Given the description of an element on the screen output the (x, y) to click on. 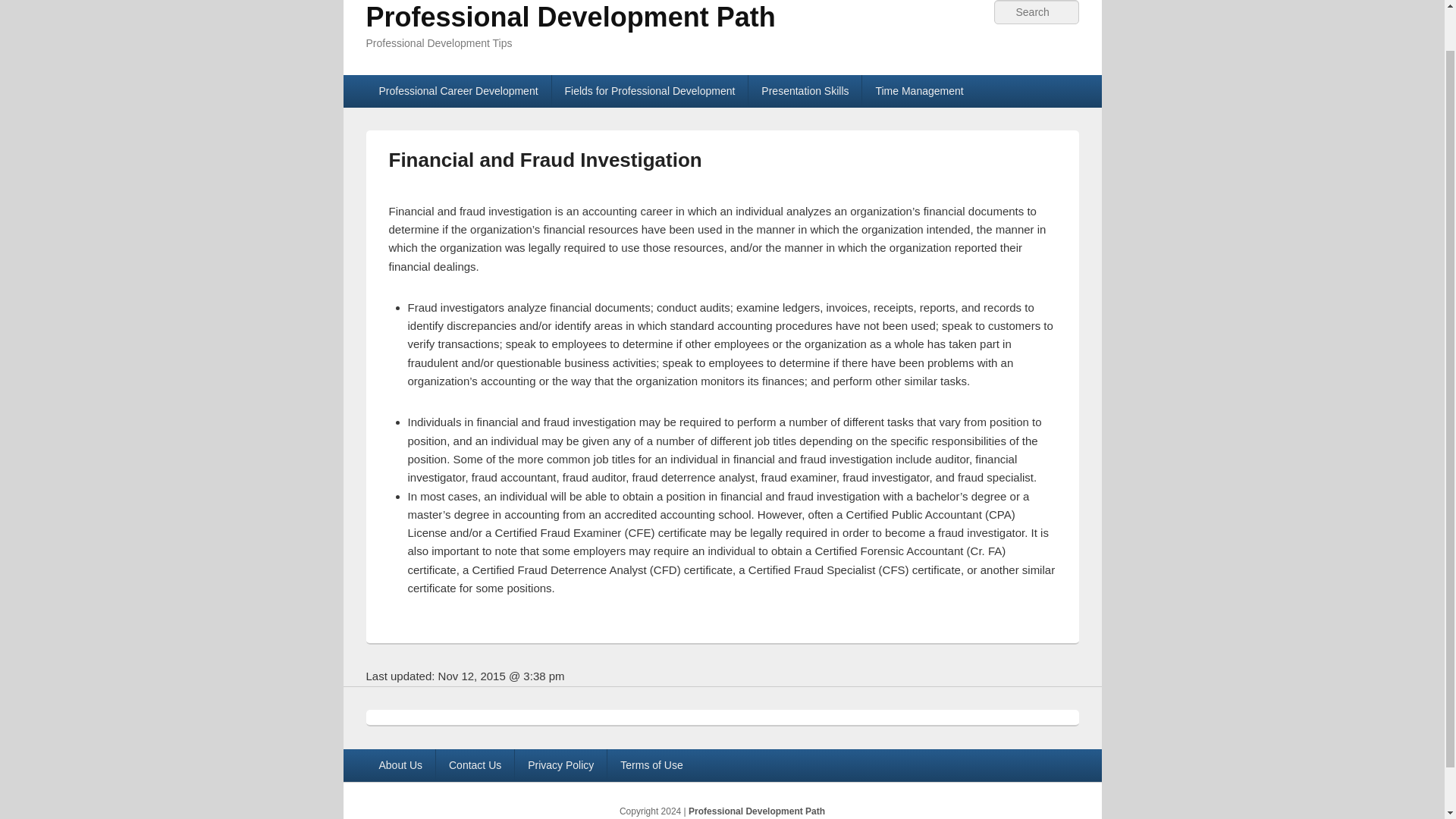
Skip to primary content (423, 84)
Skip to secondary content (430, 84)
Financial and Fraud Investigation (544, 159)
Presentation Skills (804, 91)
Permalink to Financial and Fraud Investigation (544, 159)
Skip to secondary content (430, 84)
Time Management (918, 91)
Professional Development Path (569, 16)
Fields for Professional Development (649, 91)
Skip to primary content (423, 84)
Professional Development Path (569, 16)
Professional Development Path (756, 810)
Professional Career Development (457, 91)
